Given the description of an element on the screen output the (x, y) to click on. 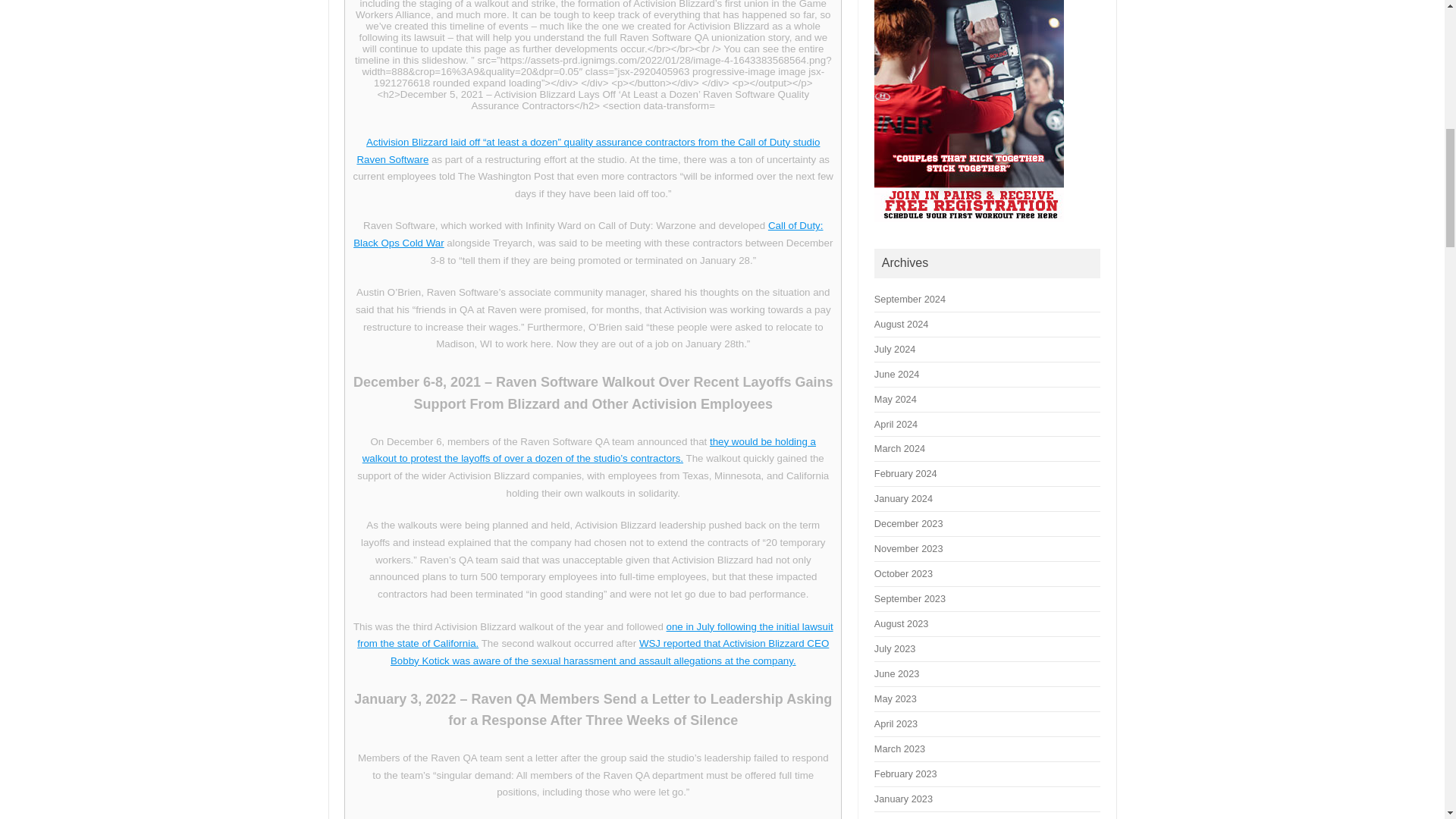
Call of Duty: Black Ops Cold War (587, 234)
